Given the description of an element on the screen output the (x, y) to click on. 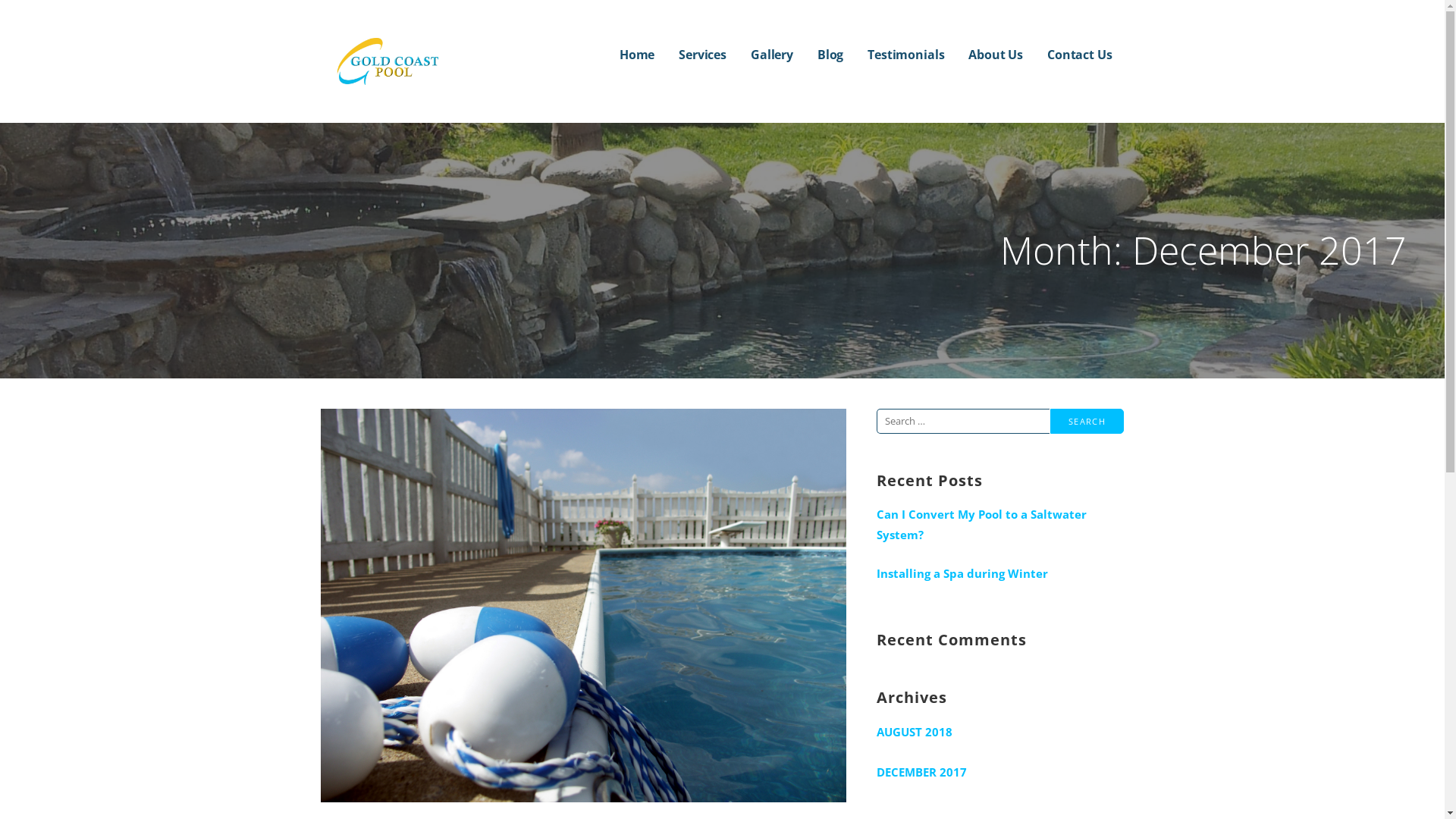
Search Element type: text (1086, 420)
Contact Us Element type: text (1079, 55)
Installing a Spa during Winter Element type: text (1000, 573)
Services Element type: text (702, 55)
Can I Convert My Pool to a Saltwater System? Element type: text (1000, 524)
AUGUST 2018 Element type: text (1000, 732)
Testimonials Element type: text (905, 55)
Gallery Element type: text (771, 55)
DECEMBER 2017 Element type: text (1000, 772)
Home Element type: text (636, 55)
Blog Element type: text (830, 55)
About Us Element type: text (995, 55)
